Given the description of an element on the screen output the (x, y) to click on. 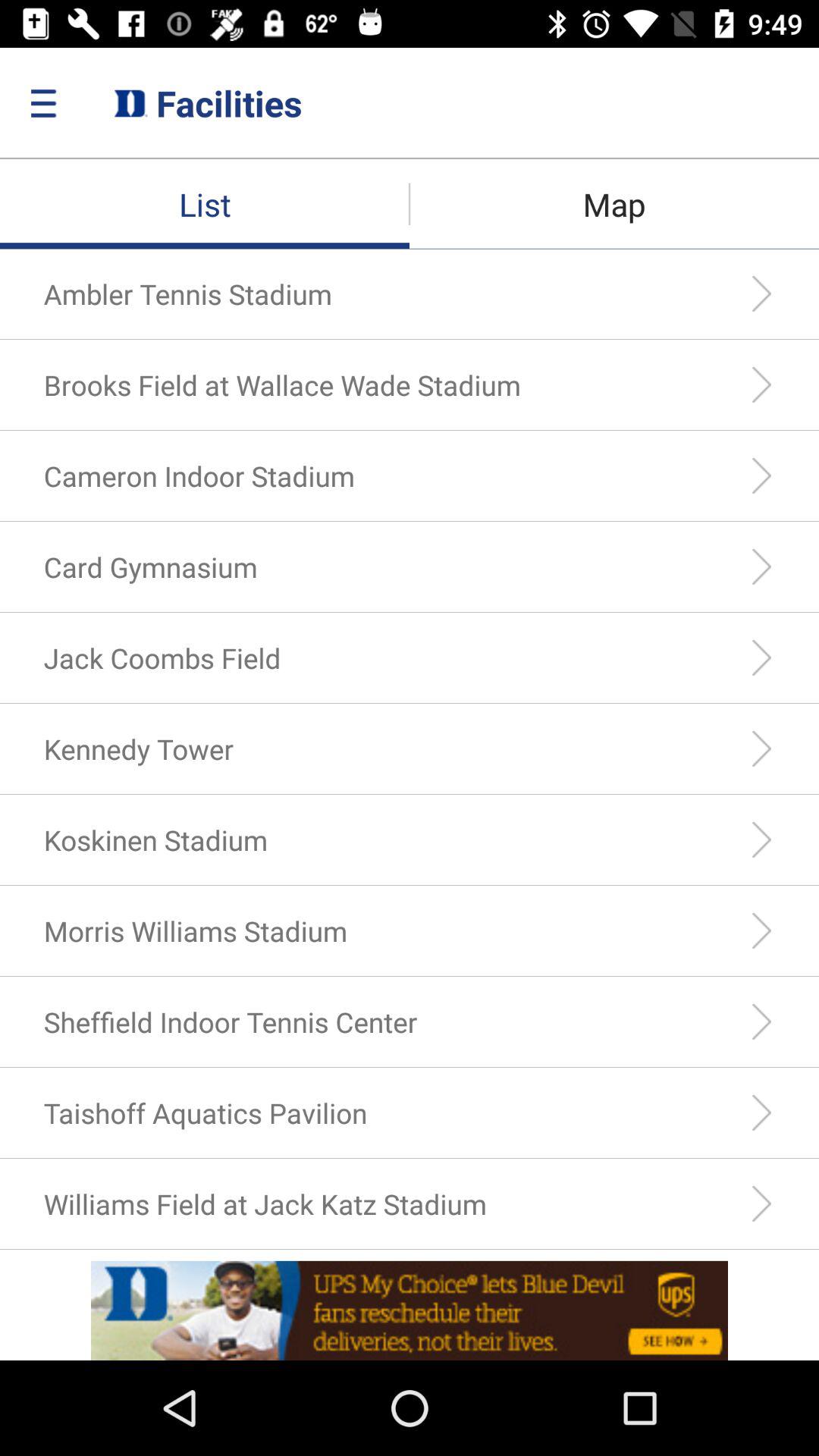
go to advertisement (409, 1310)
